Given the description of an element on the screen output the (x, y) to click on. 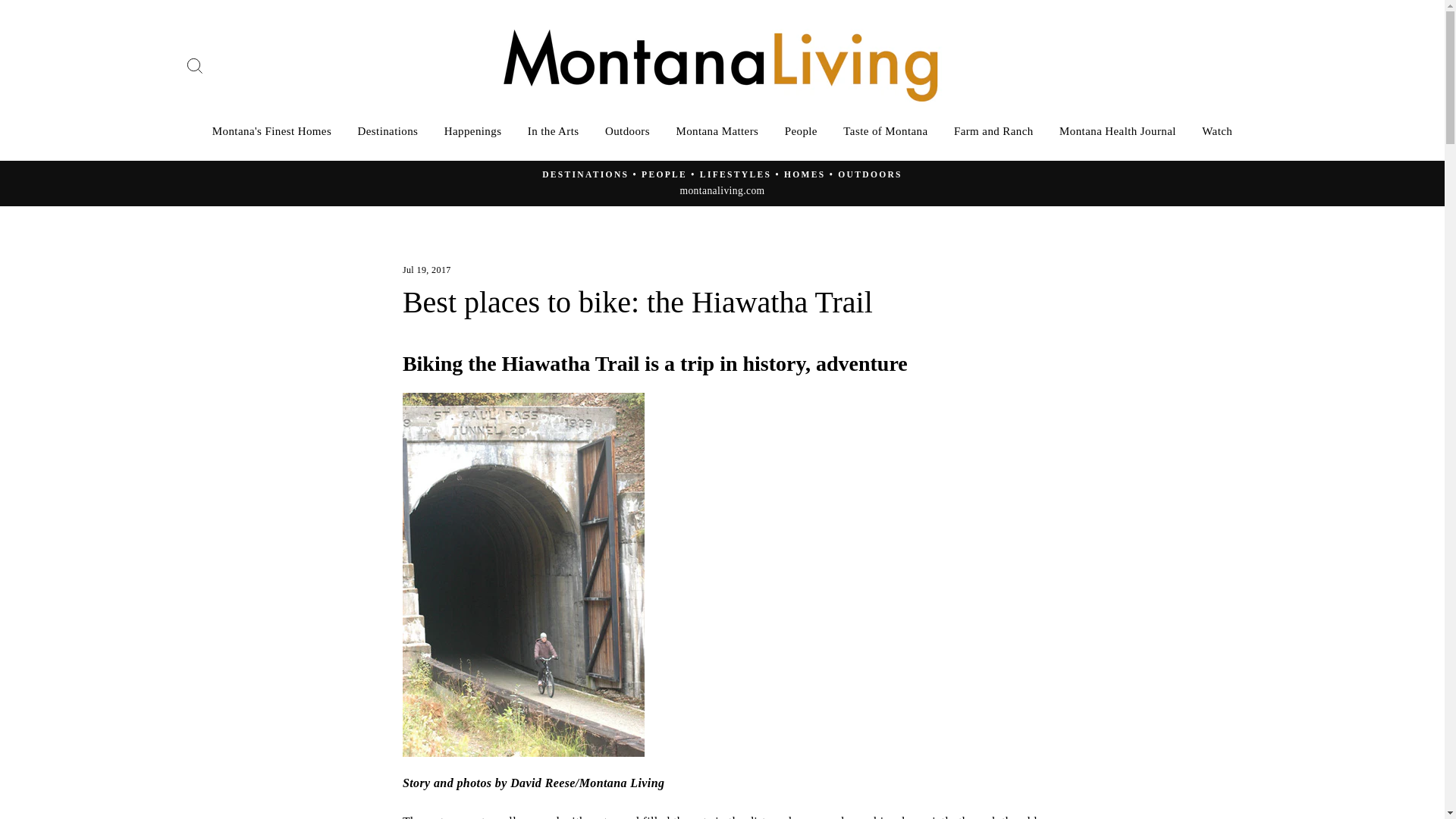
Destinations (387, 130)
People (800, 130)
Happenings (472, 130)
Outdoors (627, 130)
Farm and Ranch (993, 130)
Search (194, 65)
In the Arts (553, 130)
Taste of Montana (885, 130)
Watch (1217, 130)
Montana Health Journal (1118, 130)
Montana Matters (716, 130)
Montana's Finest Homes (271, 130)
